Given the description of an element on the screen output the (x, y) to click on. 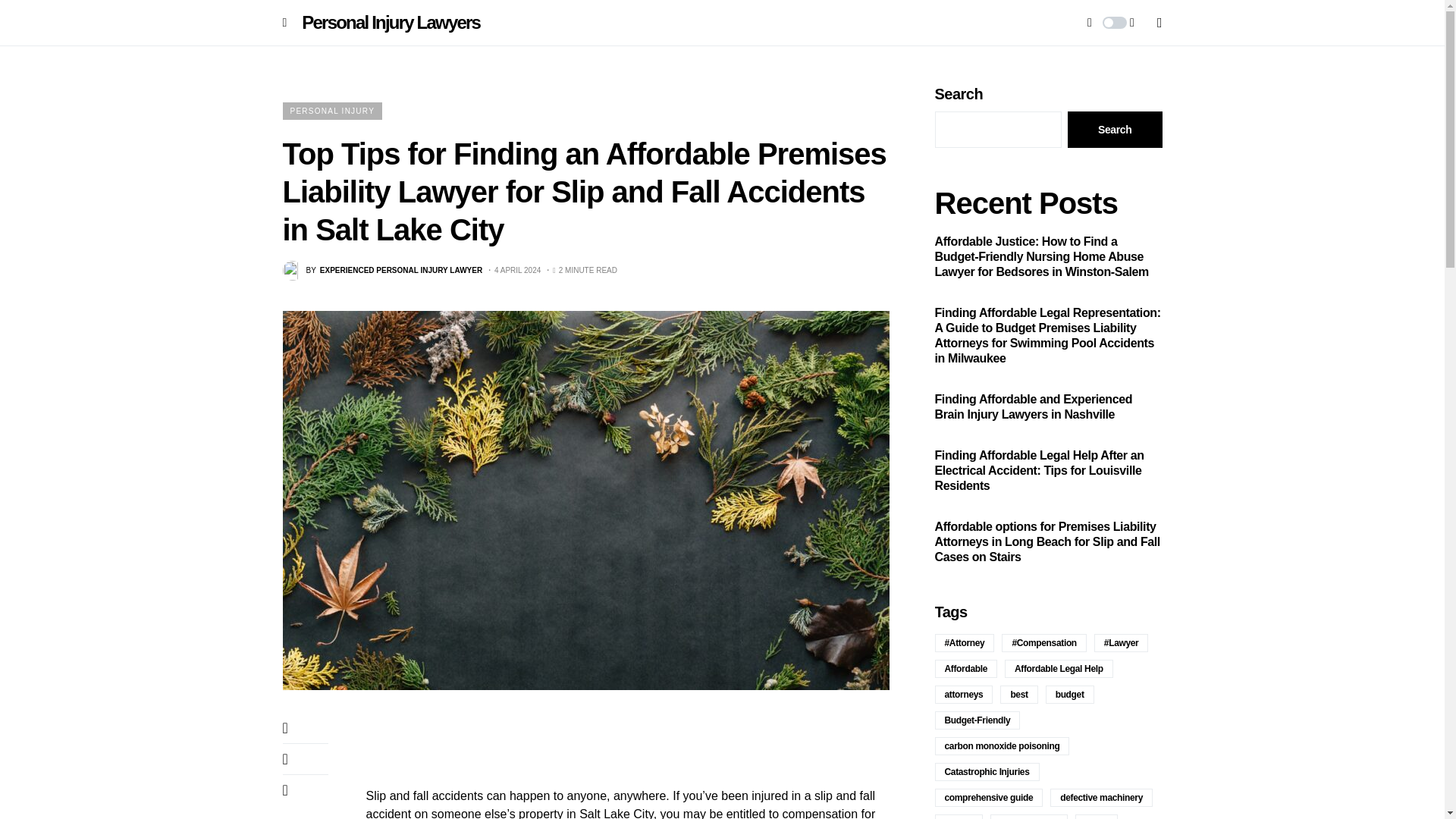
View all posts by Experienced personal injury lawyer (381, 270)
